Given the description of an element on the screen output the (x, y) to click on. 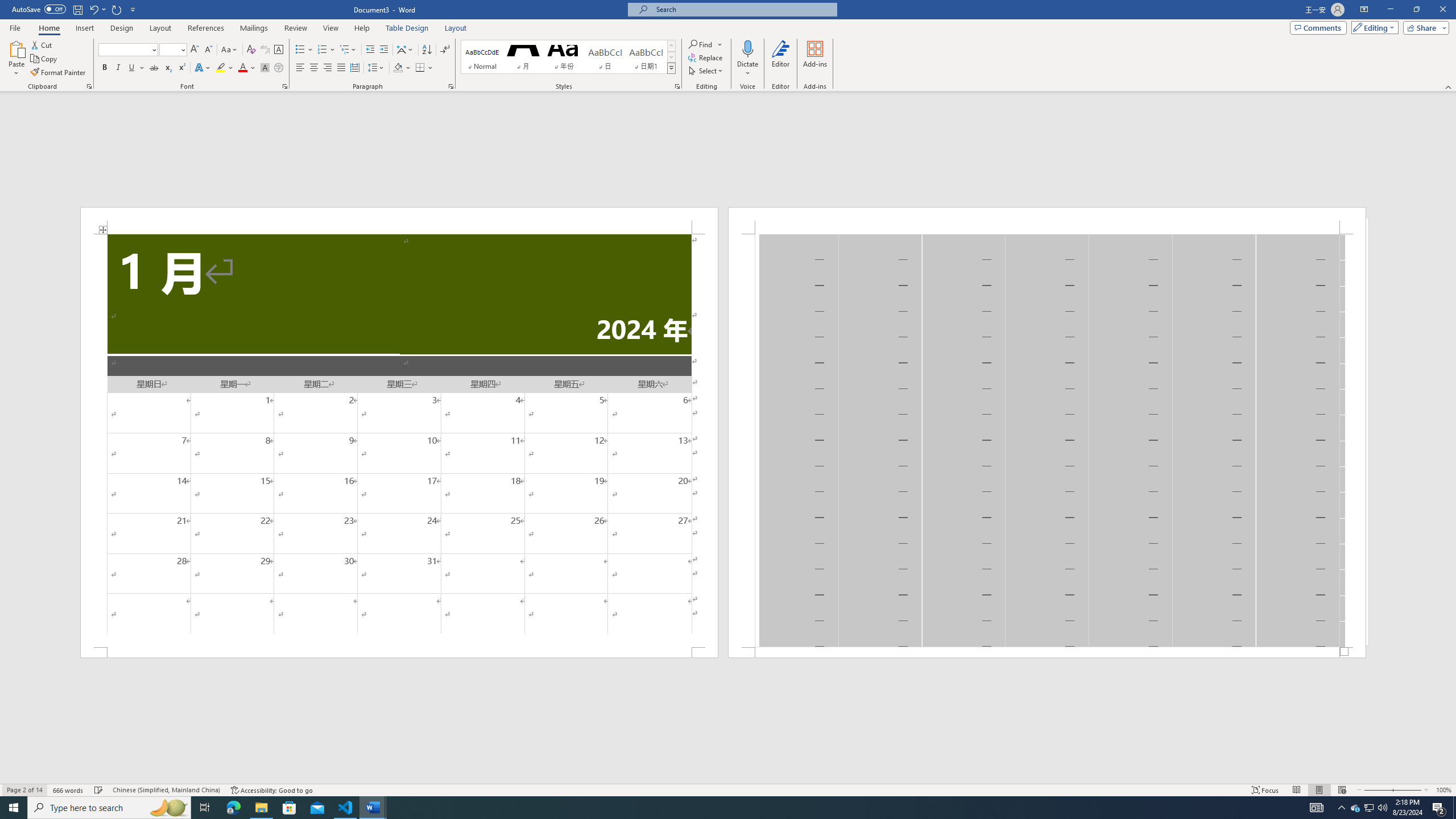
Footer -Section 1- (1046, 652)
Change Case (229, 49)
Table Design (407, 28)
Header -Section 1- (1046, 220)
Undo Distribute Para (96, 9)
Increase Indent (383, 49)
Font Color (246, 67)
Italic (118, 67)
Shrink Font (208, 49)
